Given the description of an element on the screen output the (x, y) to click on. 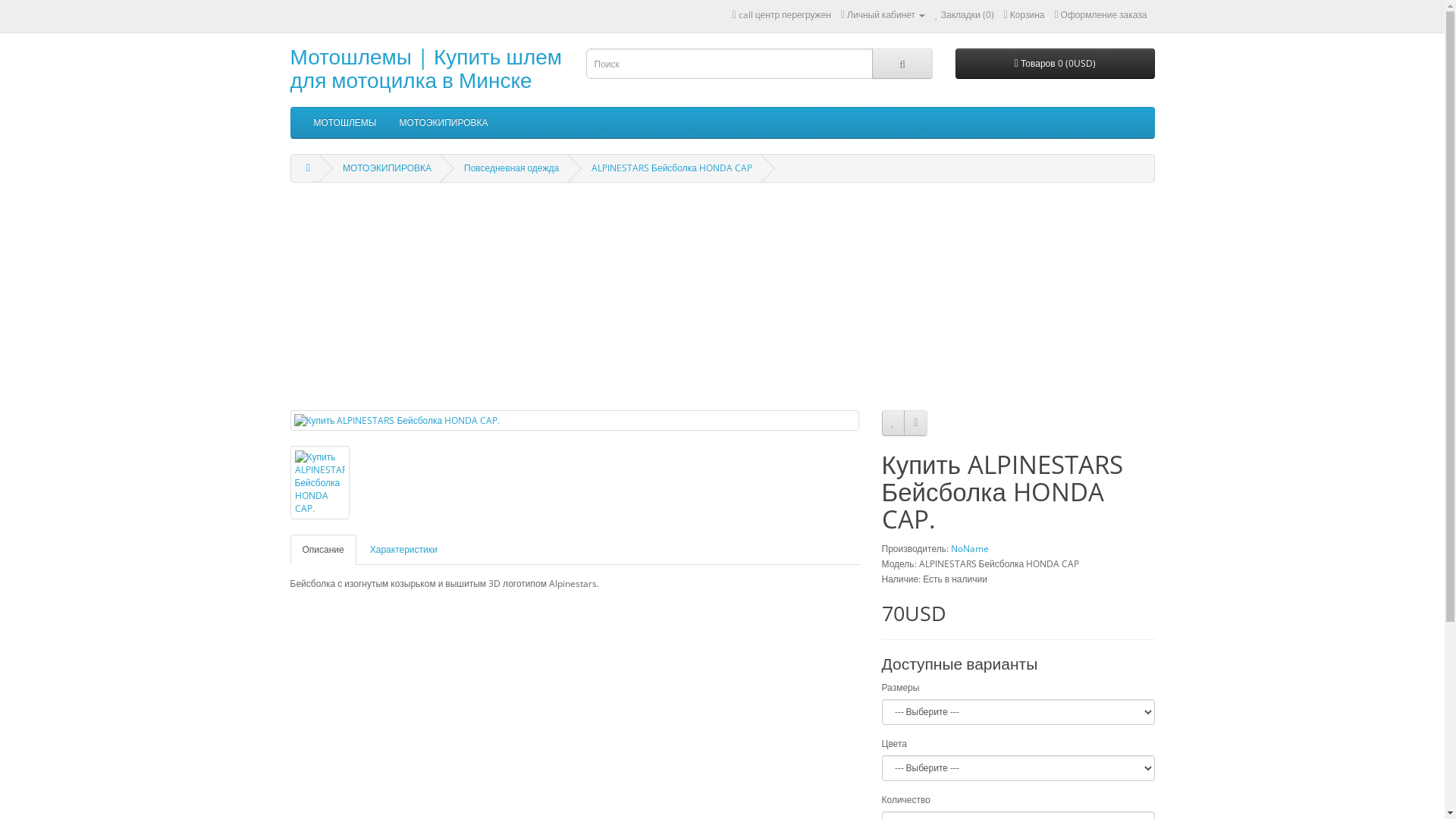
NoName Element type: text (969, 548)
